Given the description of an element on the screen output the (x, y) to click on. 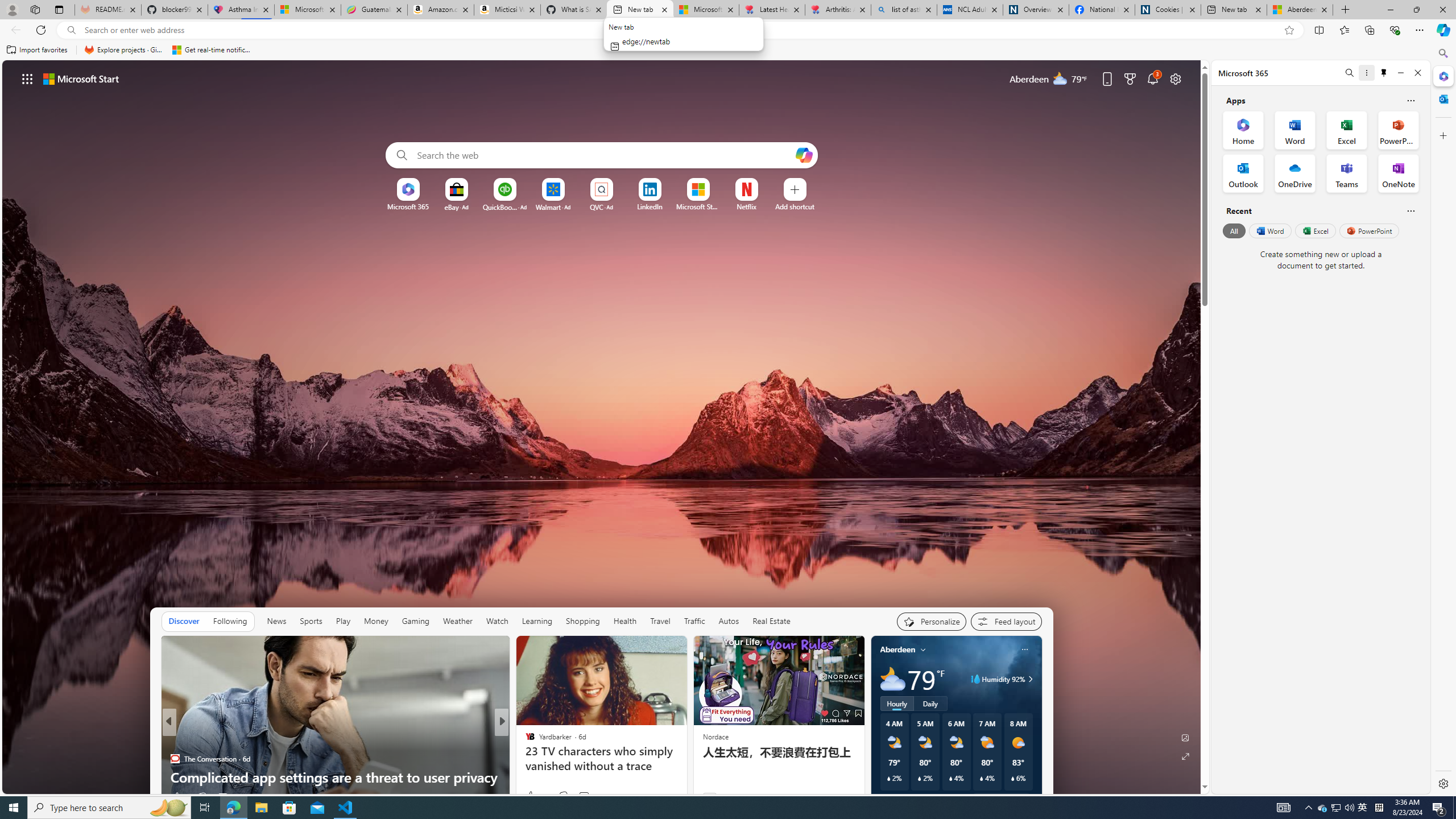
Nordace (714, 736)
The Independent (524, 740)
Sports (310, 621)
Learning (537, 621)
All (1233, 230)
Excel Office App (1346, 129)
Mostly cloudy (892, 678)
Word Office App (1295, 129)
